Given the description of an element on the screen output the (x, y) to click on. 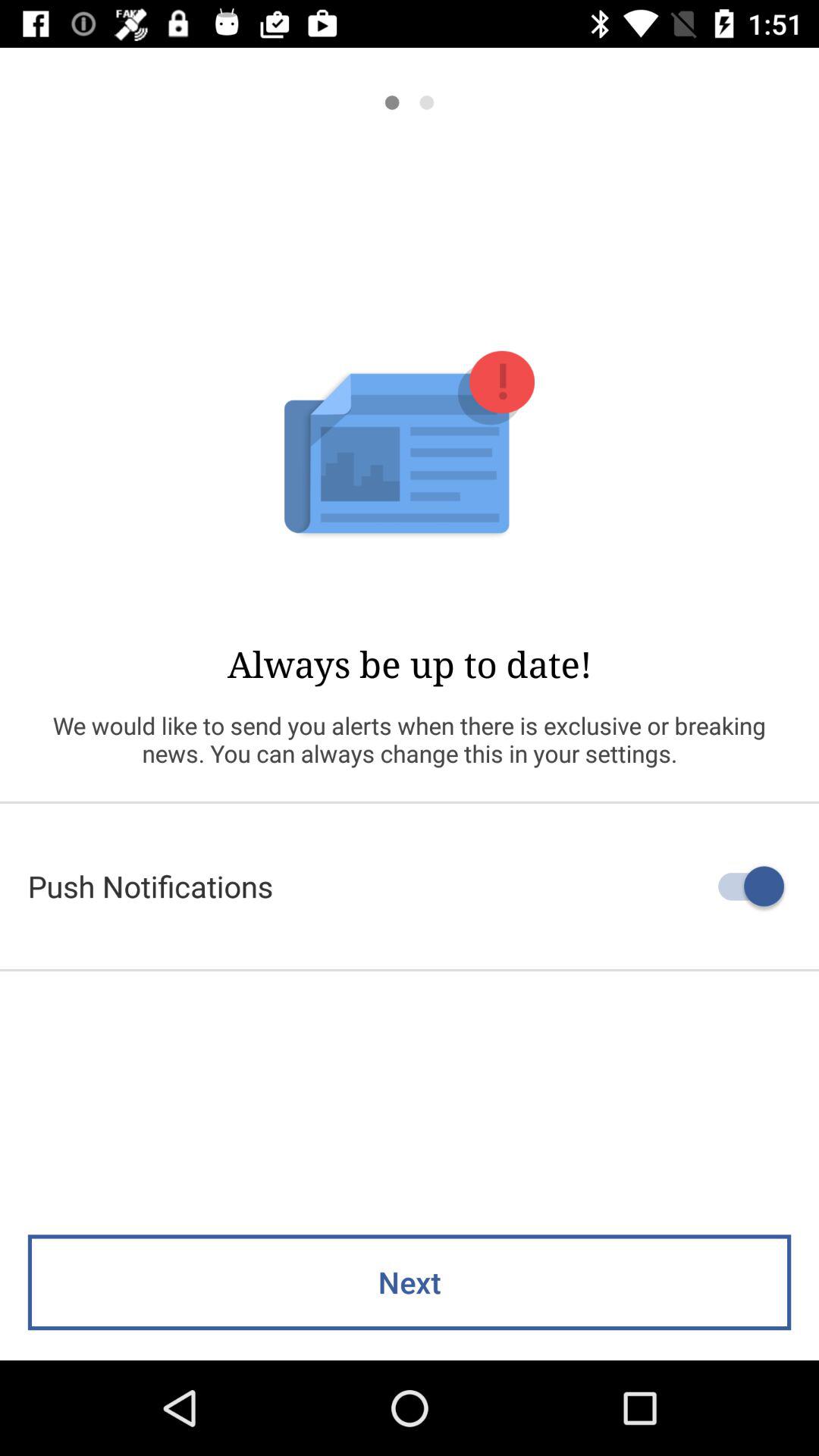
click next item (409, 1282)
